Given the description of an element on the screen output the (x, y) to click on. 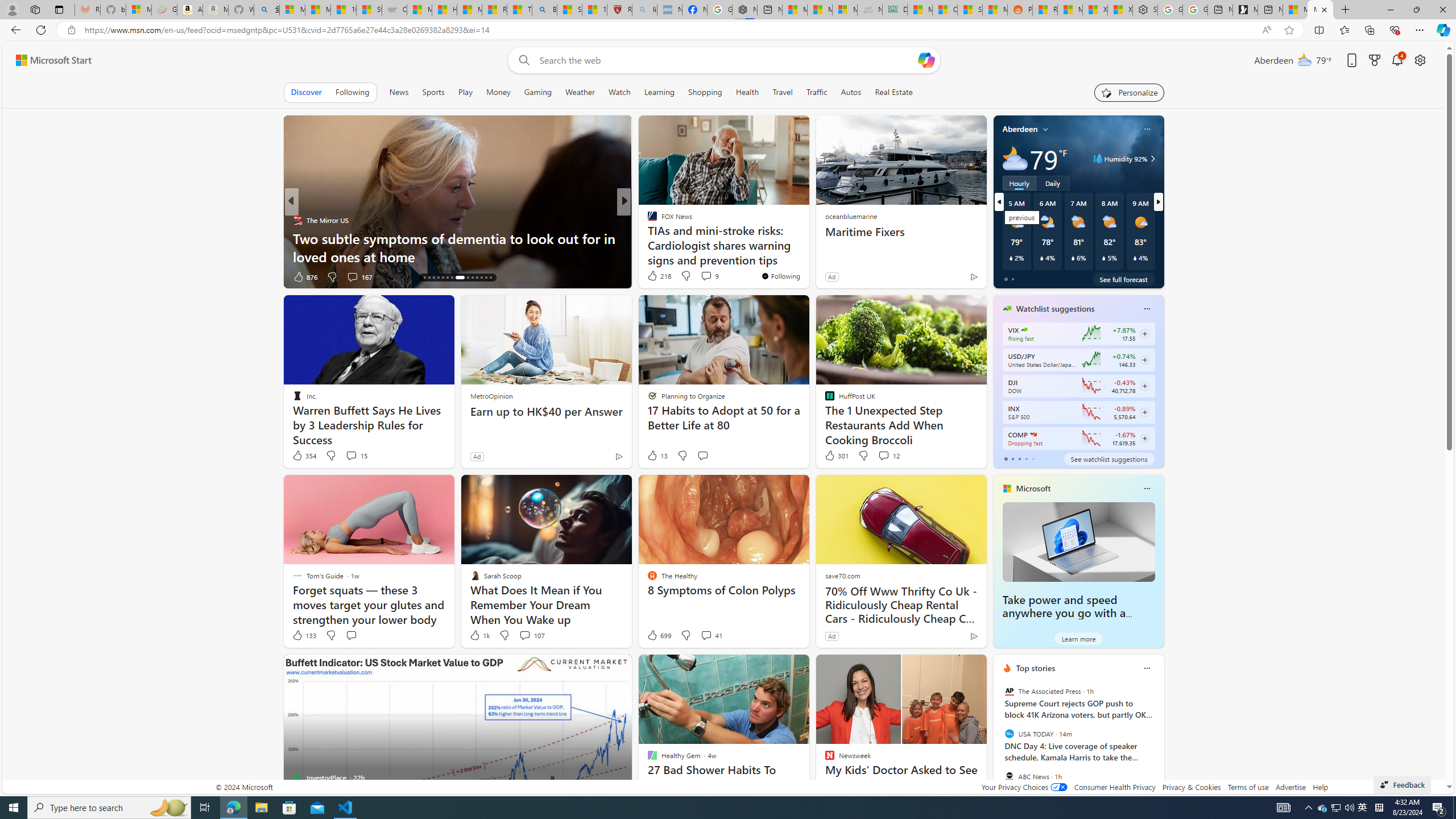
View comments 5 Comment (698, 276)
AutomationID: tab-17 (433, 277)
MetroOpinion (491, 395)
Daily (1052, 183)
Learning (658, 92)
Autos (850, 92)
The Best Single Stock to Own for 5 Years (807, 256)
AutomationID: tab-21 (451, 277)
Personalize your feed" (1129, 92)
